Given the description of an element on the screen output the (x, y) to click on. 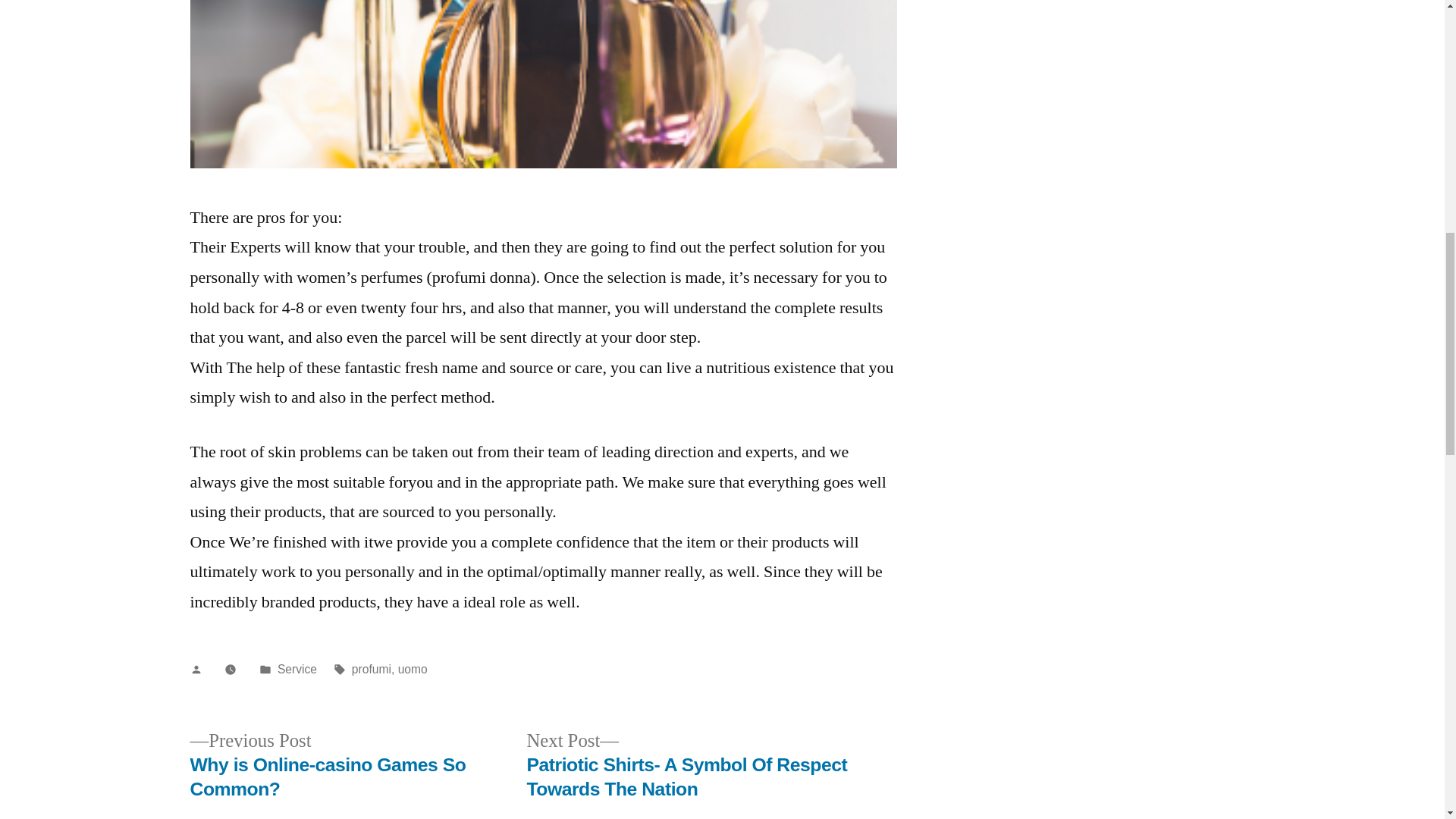
profumi (371, 668)
uomo (412, 668)
Service (297, 668)
